Given the description of an element on the screen output the (x, y) to click on. 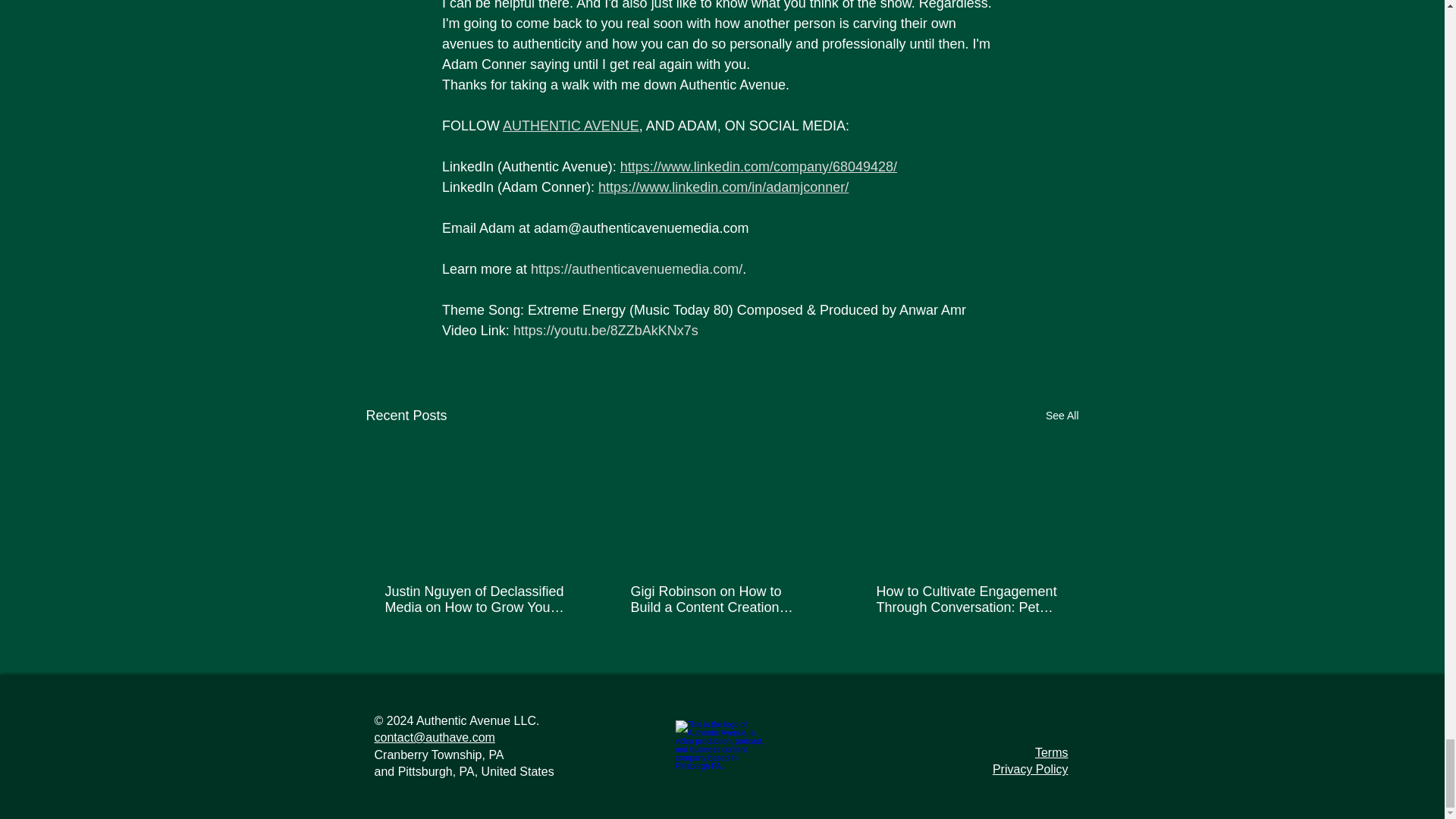
Privacy Policy (1030, 768)
Terms (1051, 752)
See All (1061, 415)
AUTHENTIC AVENUE (570, 125)
